Given the description of an element on the screen output the (x, y) to click on. 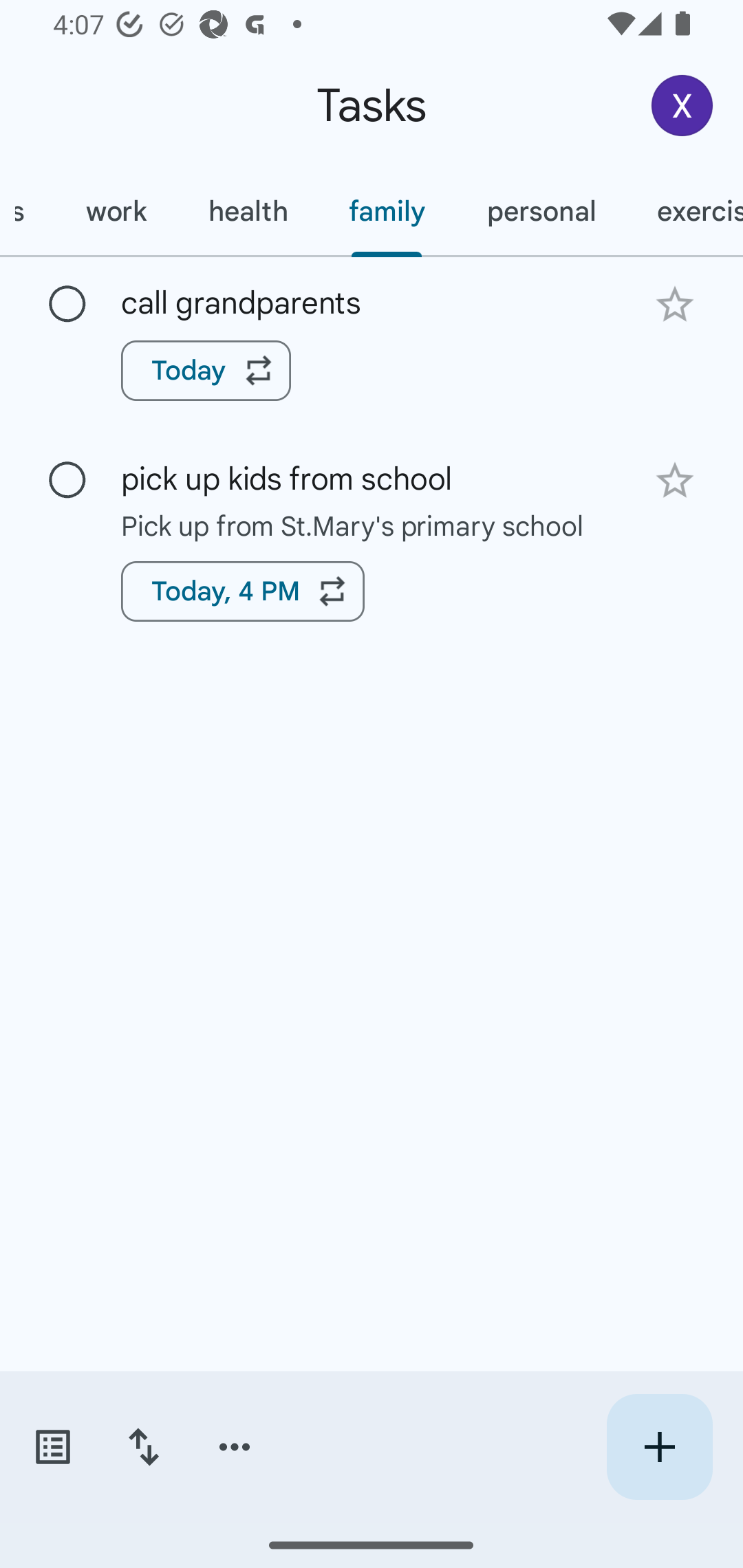
work (115, 211)
health (247, 211)
personal (541, 211)
exercise (684, 211)
Add star (674, 303)
Mark as complete (67, 304)
Today (206, 369)
Add star (674, 480)
Mark as complete (67, 480)
Pick up from St.Mary's primary school (371, 524)
Today, 4 PM (242, 590)
Switch task lists (52, 1447)
Create new task (659, 1446)
Change sort order (143, 1446)
More options (234, 1446)
